Given the description of an element on the screen output the (x, y) to click on. 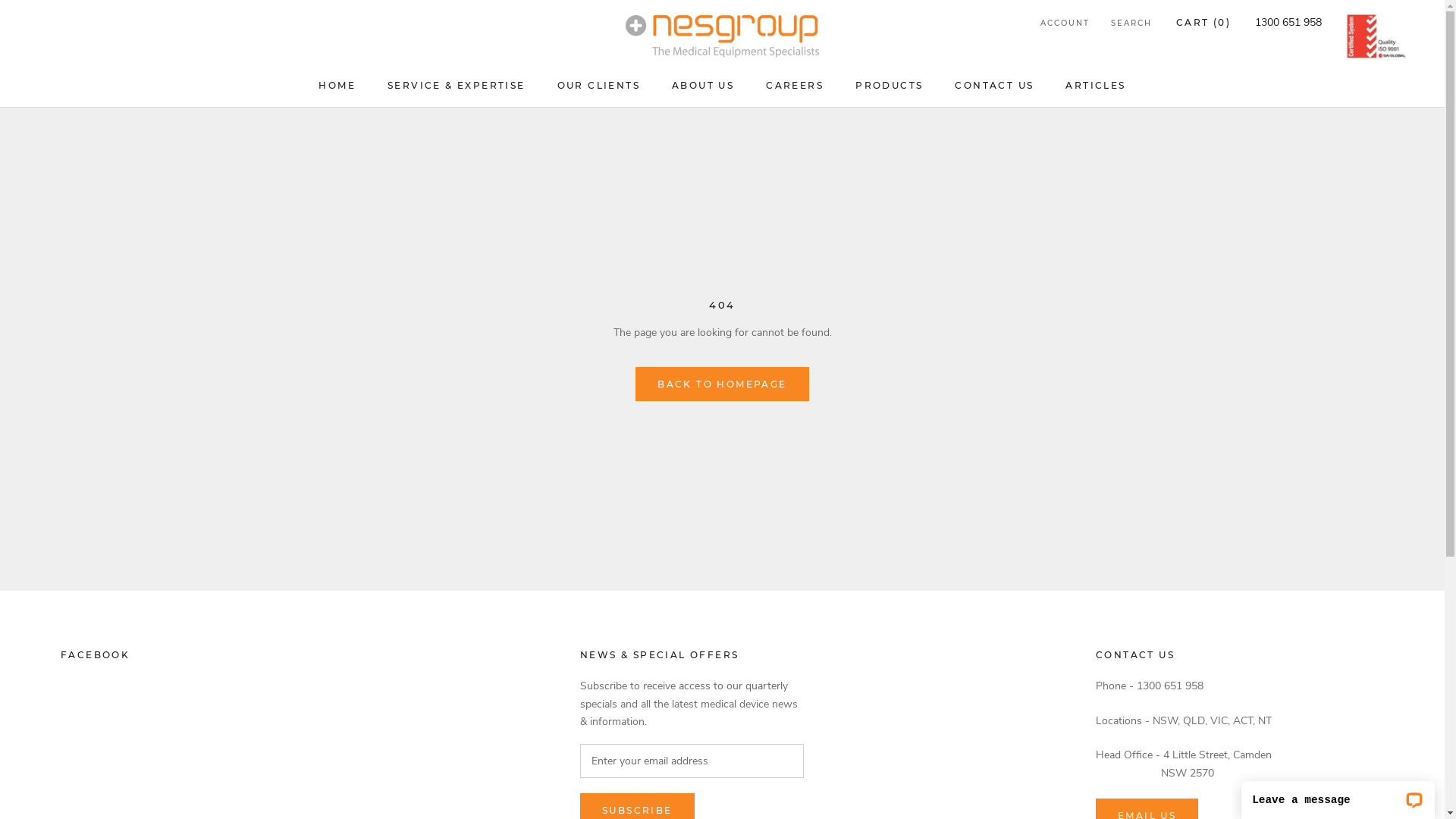
ABOUT US
ABOUT US Element type: text (702, 85)
1300 651 958 Element type: text (1288, 22)
HOME
HOME Element type: text (336, 85)
OUR CLIENTS
OUR CLIENTS Element type: text (598, 85)
CAREERS
CAREERS Element type: text (794, 85)
SERVICE & EXPERTISE Element type: text (456, 85)
CART (0) Element type: text (1203, 22)
BACK TO HOMEPAGE Element type: text (721, 384)
ARTICLES
ARTICLES Element type: text (1095, 85)
CONTACT US
CONTACT US Element type: text (993, 85)
SEARCH Element type: text (1130, 23)
ACCOUNT Element type: text (1064, 23)
PRODUCTS Element type: text (888, 85)
